Given the description of an element on the screen output the (x, y) to click on. 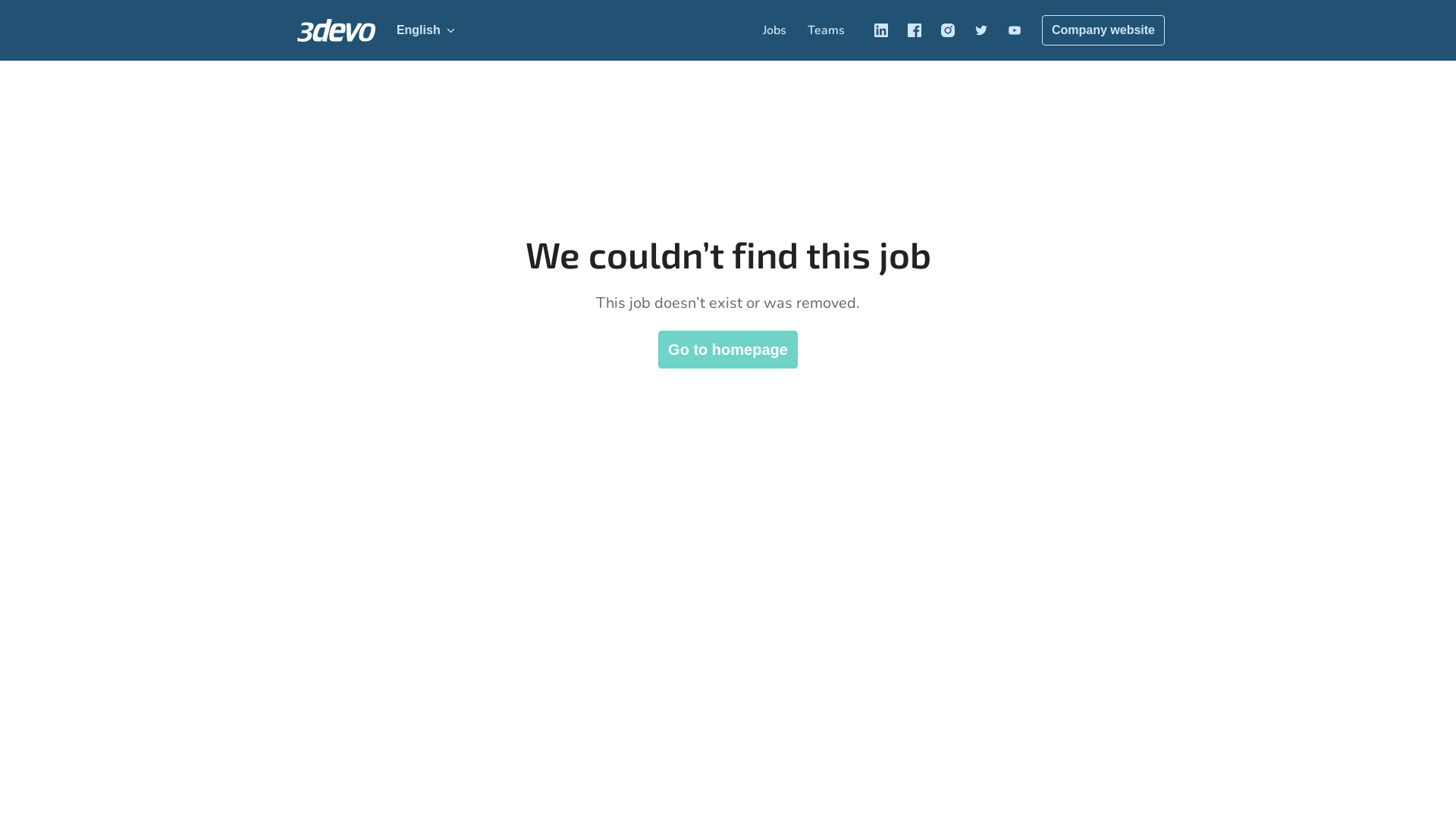
facebook Element type: hover (914, 30)
Jobs Element type: text (774, 30)
youtube Element type: hover (1014, 30)
English Element type: text (425, 29)
Go to homepage Element type: text (727, 349)
Teams Element type: text (825, 30)
twitter Element type: hover (981, 30)
Company website Element type: text (1102, 30)
instagram Element type: hover (947, 30)
linkedin Element type: hover (881, 30)
